Given the description of an element on the screen output the (x, y) to click on. 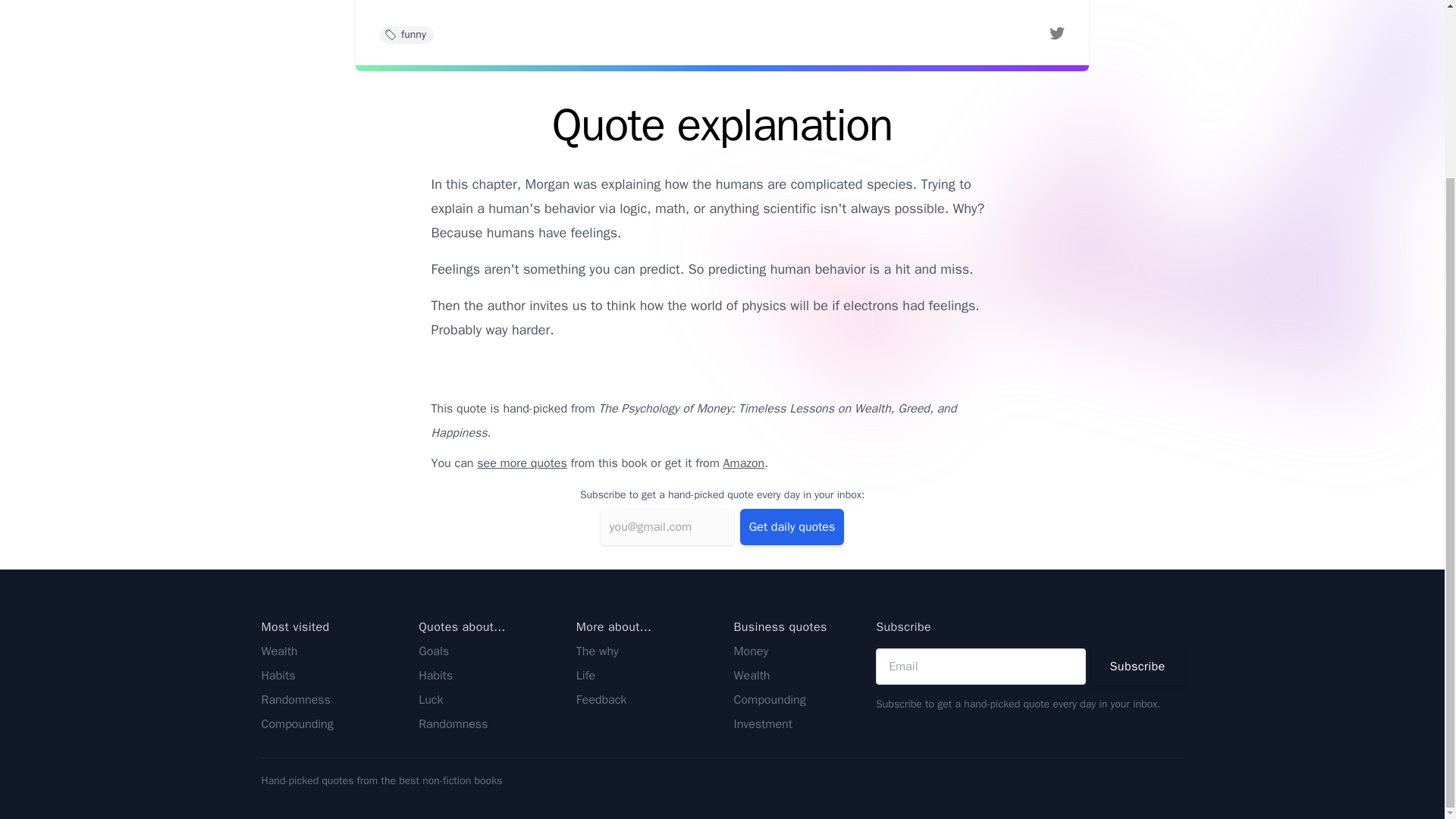
Randomness (295, 699)
see more quotes (522, 462)
Compounding (296, 724)
Investment (762, 724)
Randomness (453, 724)
Wealth (751, 675)
Habits (277, 675)
Goals (433, 651)
Life (585, 675)
Amazon (744, 462)
